Given the description of an element on the screen output the (x, y) to click on. 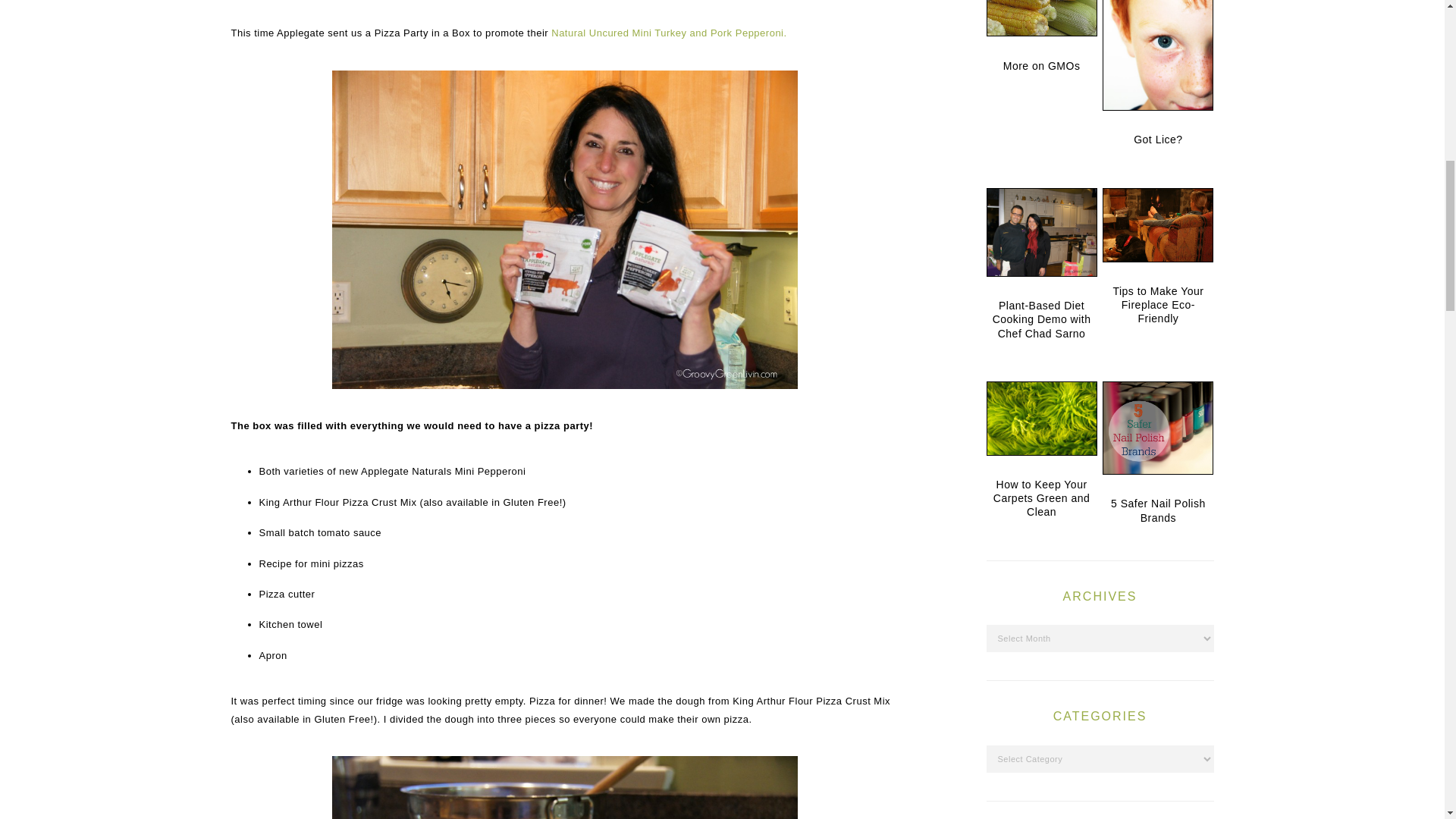
Tips to Make Your Fireplace Eco-Friendly (1157, 227)
Got Lice? (1157, 58)
Natural Uncured Mini Turkey and Pork Pepperoni. (668, 32)
How to Keep Your Carpets Green and Clean (1040, 421)
5 Safer Nail Polish Brands (1157, 430)
Groovy Green Livin Applegate (564, 787)
More on GMOs (1040, 21)
Plant-Based Diet Cooking Demo with Chef Chad Sarno (1040, 235)
